Given the description of an element on the screen output the (x, y) to click on. 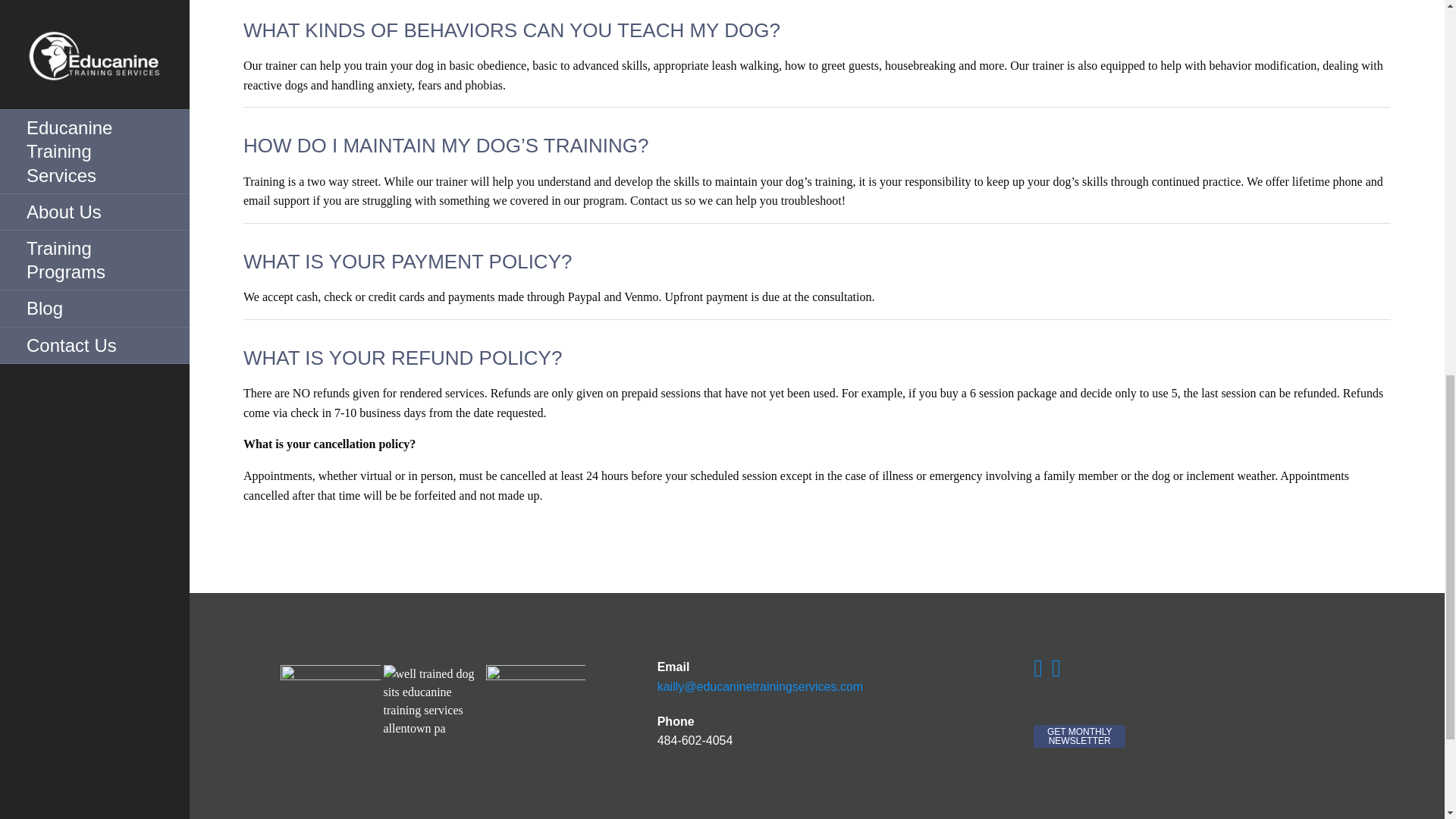
GET MONTHLY NEWSLETTER (1079, 735)
